Given the description of an element on the screen output the (x, y) to click on. 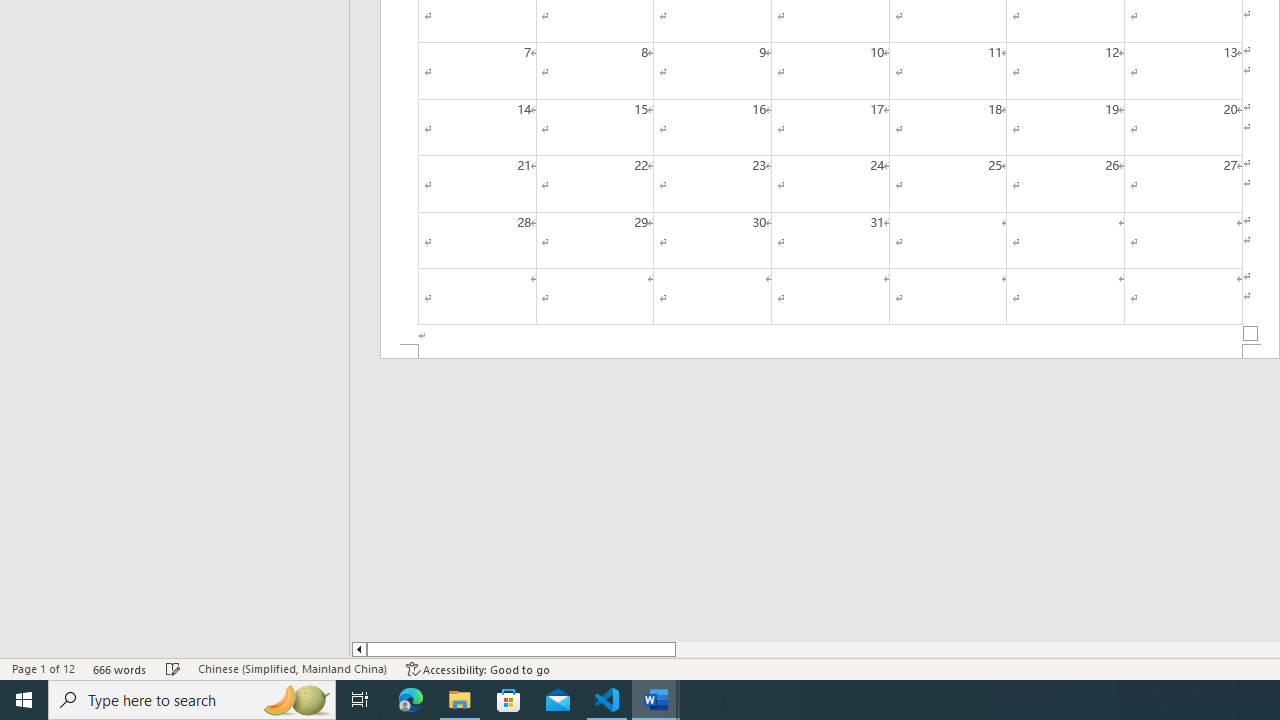
Language Chinese (Simplified, Mainland China) (292, 668)
Footer -Section 1- (830, 351)
Spelling and Grammar Check Checking (173, 668)
Column left (358, 649)
Accessibility Checker Accessibility: Good to go (478, 668)
Page Number Page 1 of 12 (43, 668)
Word Count 666 words (119, 668)
